Given the description of an element on the screen output the (x, y) to click on. 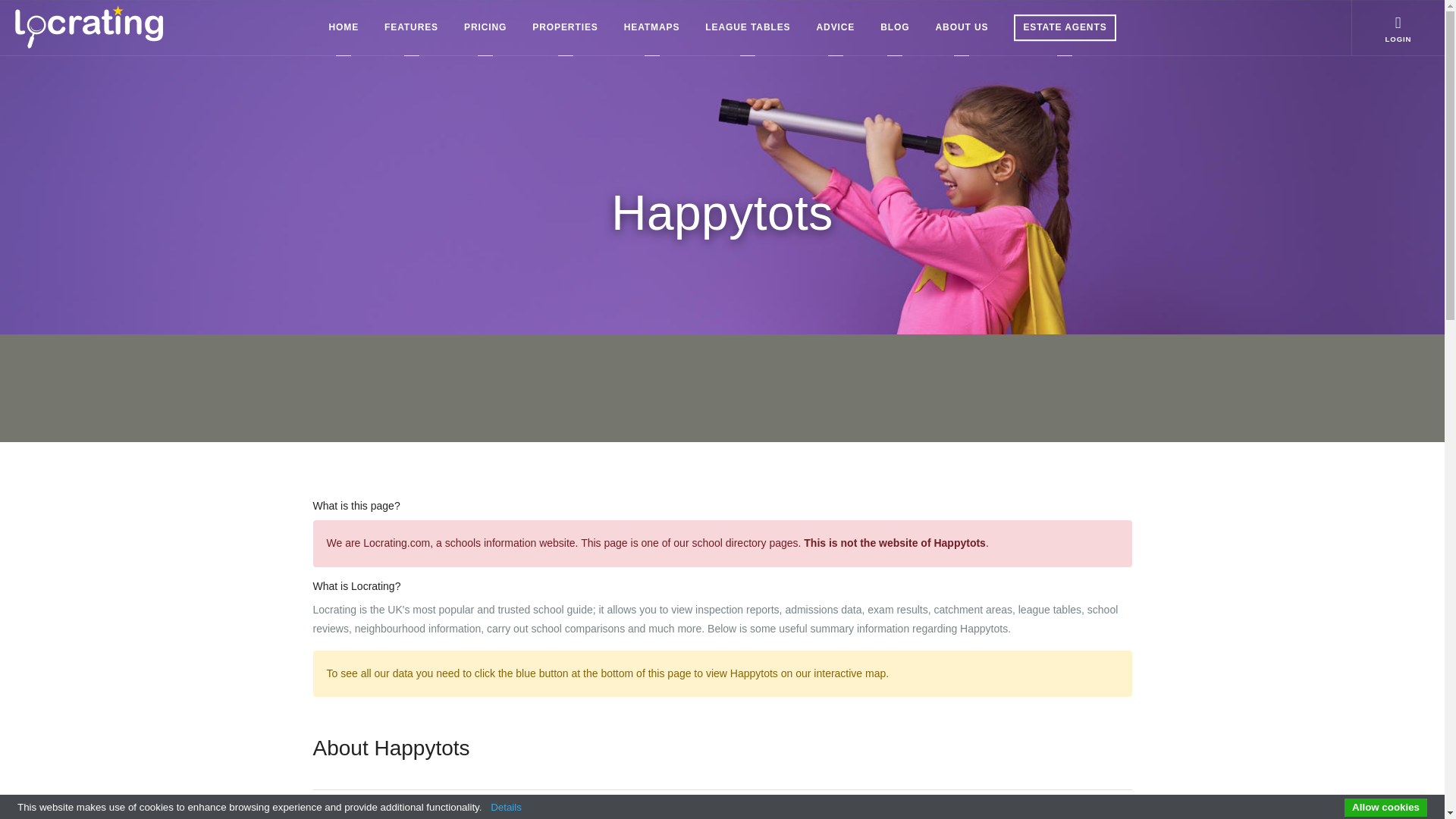
ABOUT US (962, 27)
PROPERTIES (564, 27)
ESTATE AGENTS (1065, 27)
HEATMAPS (651, 27)
LEAGUE TABLES (747, 27)
FEATURES (411, 27)
LOGIN (1397, 27)
PRICING (485, 27)
ADVICE (835, 27)
